Given the description of an element on the screen output the (x, y) to click on. 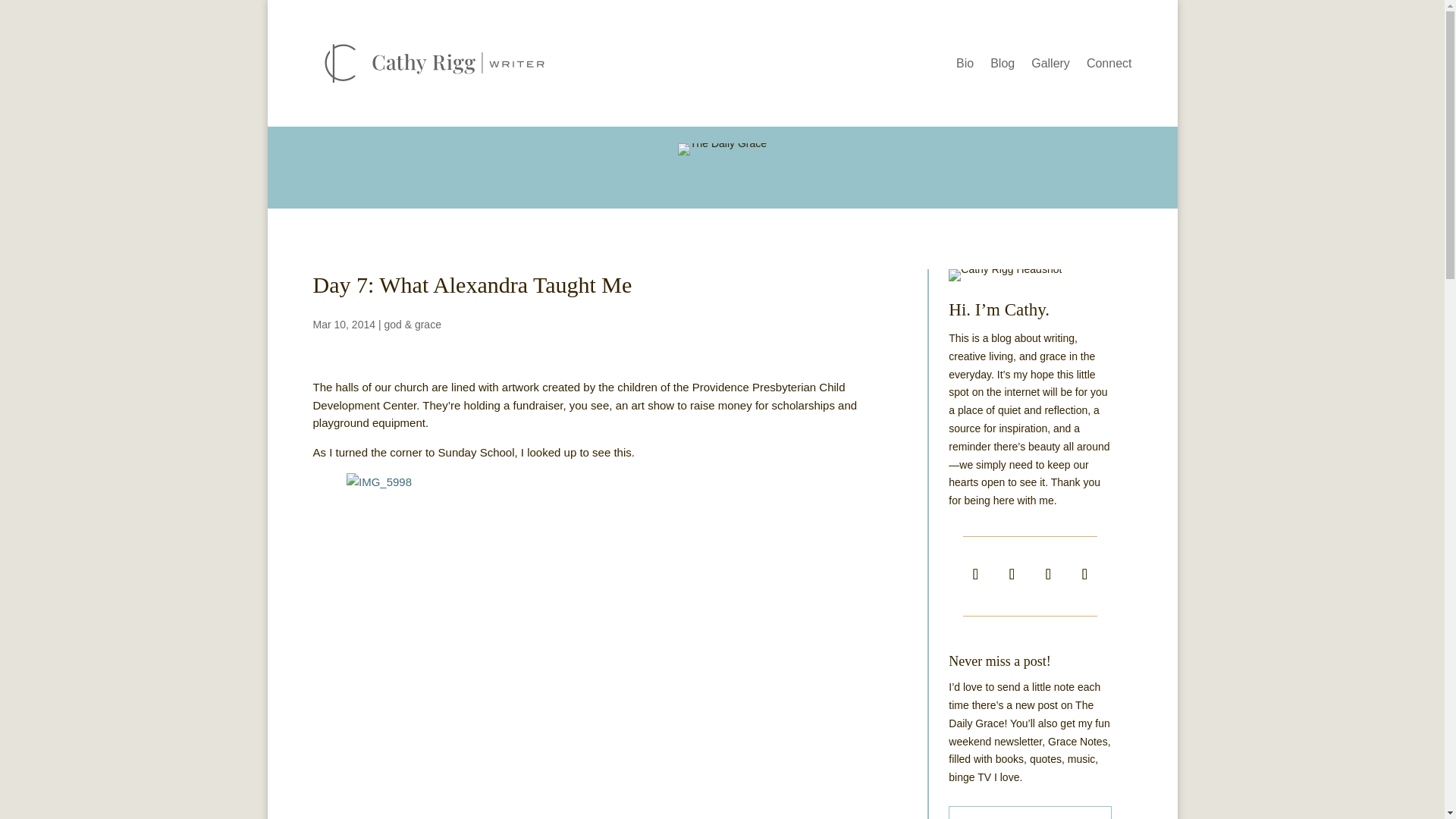
Gallery (1050, 66)
Connect (1109, 66)
The Daily Grace (722, 149)
Blog (1002, 66)
Bio (965, 66)
Follow on X (1010, 573)
CRW home (1005, 275)
Follow on Facebook (974, 573)
Follow on Instagram (1047, 573)
Follow on Pinterest (1083, 573)
